Given the description of an element on the screen output the (x, y) to click on. 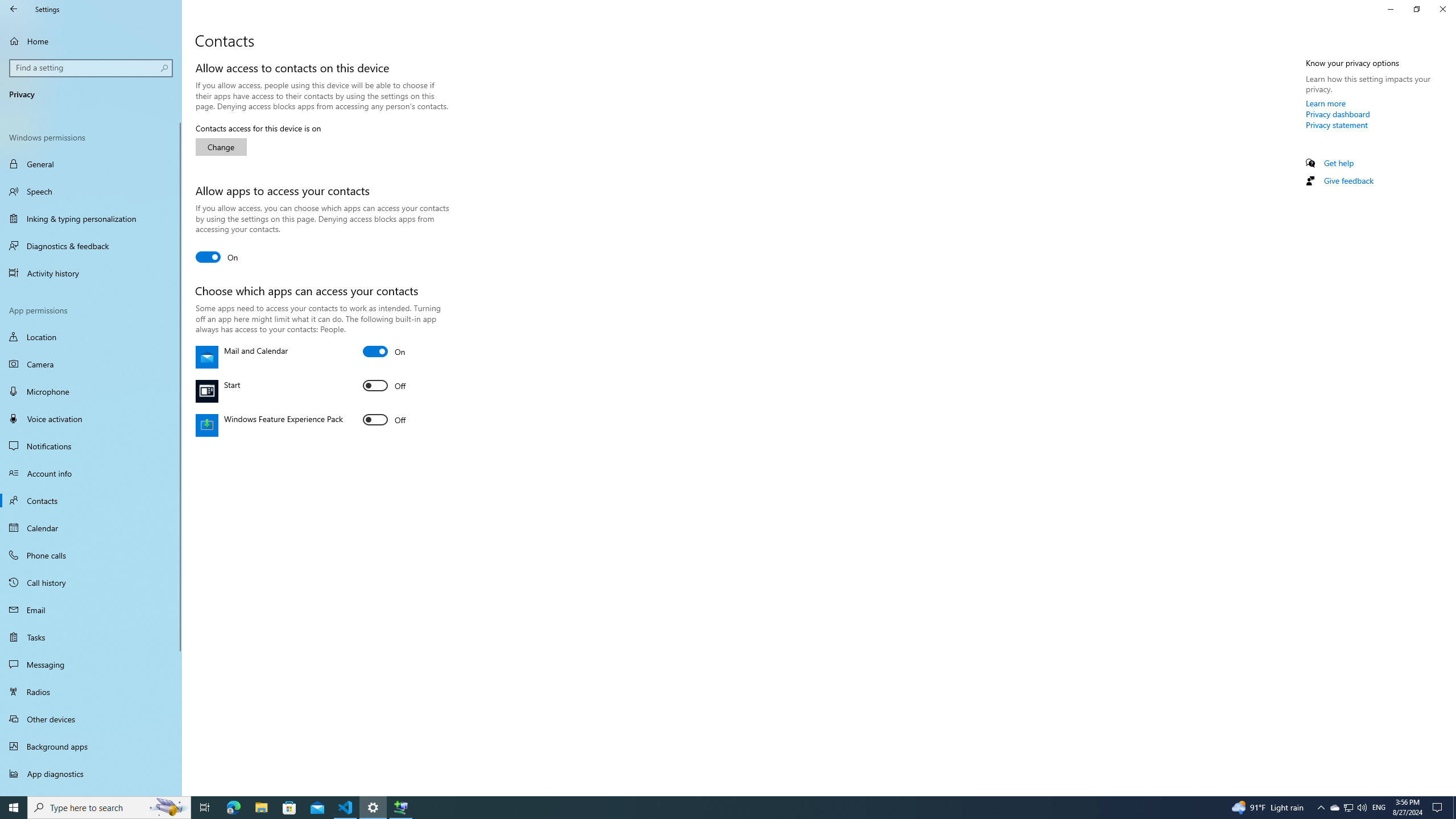
Automatic file downloads (91, 791)
Microsoft Store (289, 807)
Search box, Find a setting (91, 67)
Location (91, 336)
User Promoted Notification Area (1347, 807)
Background apps (91, 746)
Email (91, 609)
Notification Chevron (1320, 807)
Microsoft Edge (233, 807)
Windows Feature Experience Pack (384, 419)
Get help (1338, 162)
Inking & typing personalization (91, 217)
Action Center, No new notifications (1439, 807)
Phone calls (91, 554)
Minimize Settings (1390, 9)
